Given the description of an element on the screen output the (x, y) to click on. 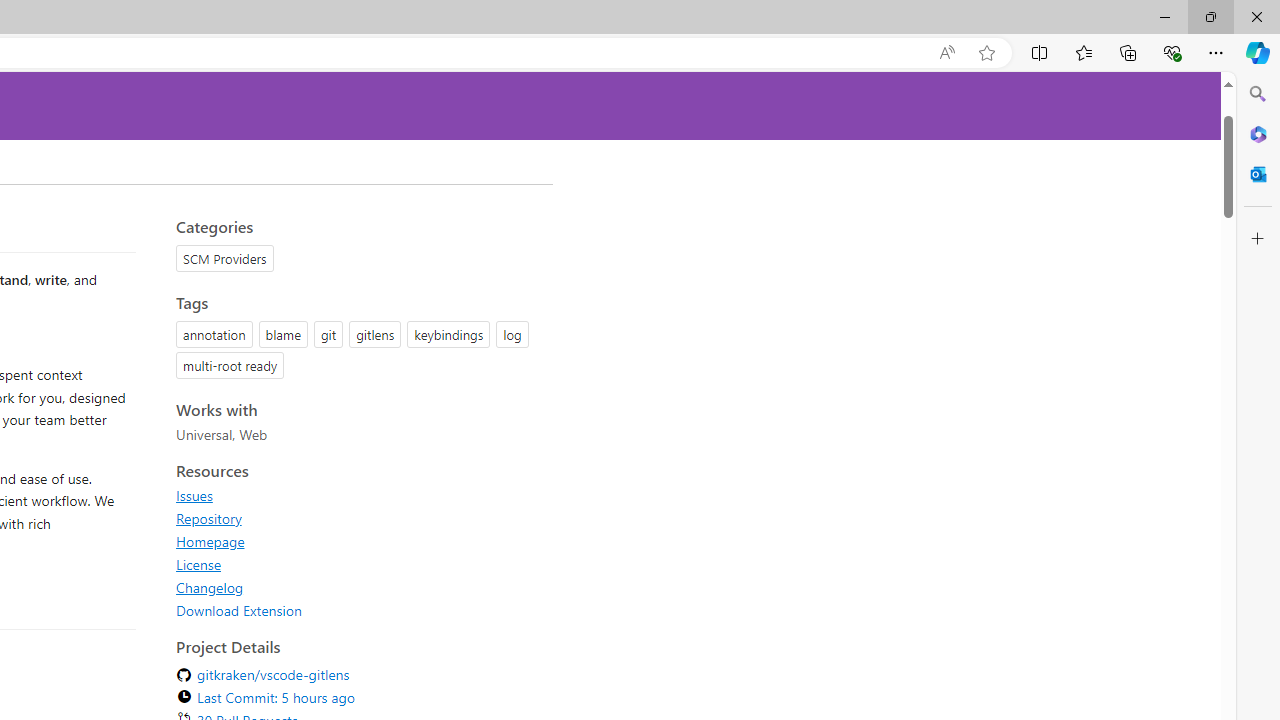
Issues (194, 495)
Repository (358, 518)
Download Extension (239, 610)
Download Extension (358, 610)
License (358, 564)
Repository (208, 518)
